Given the description of an element on the screen output the (x, y) to click on. 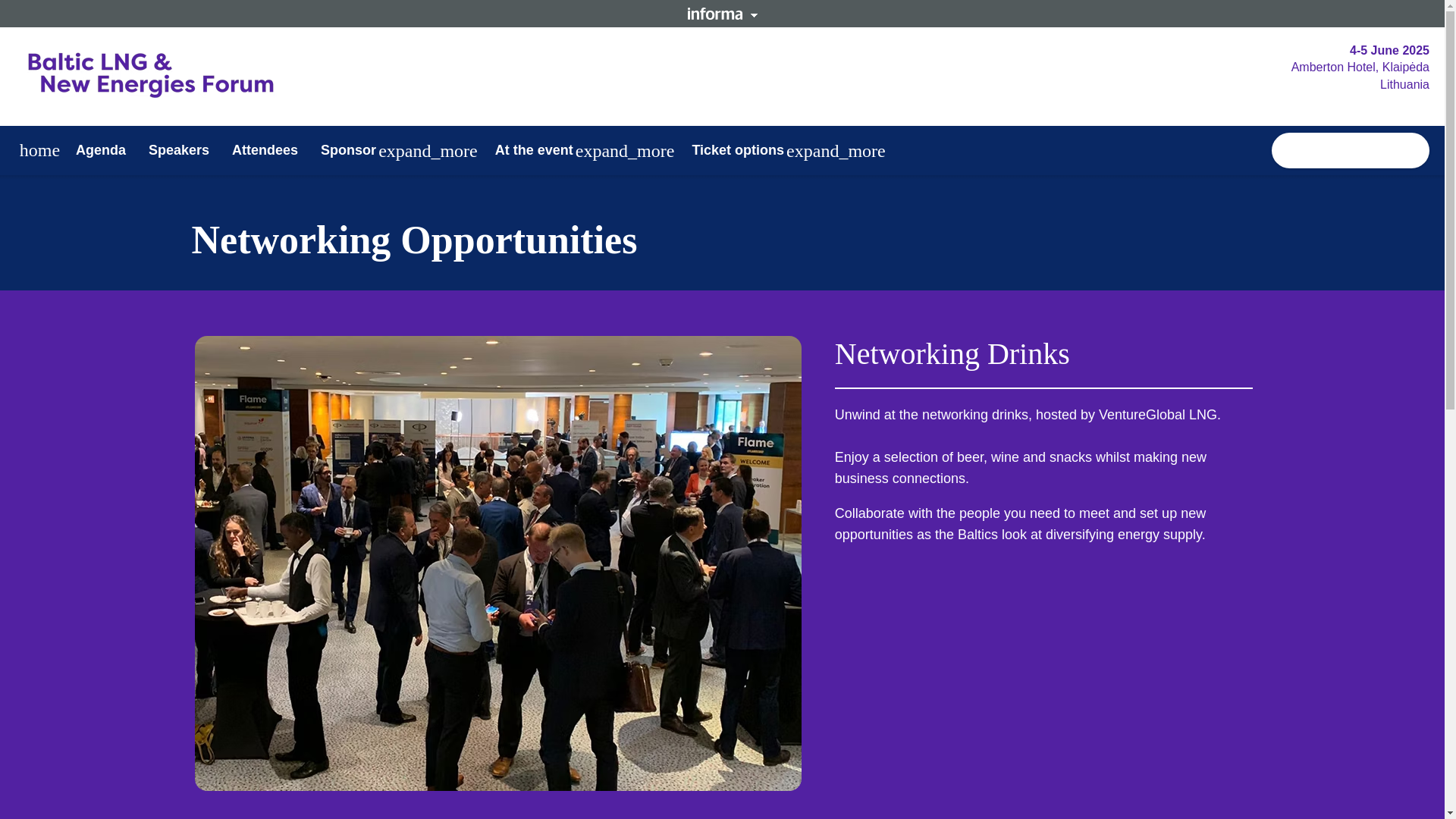
Speakers (178, 150)
Attendees (264, 150)
Book Now (1350, 150)
Agenda (100, 150)
home (39, 150)
